Given the description of an element on the screen output the (x, y) to click on. 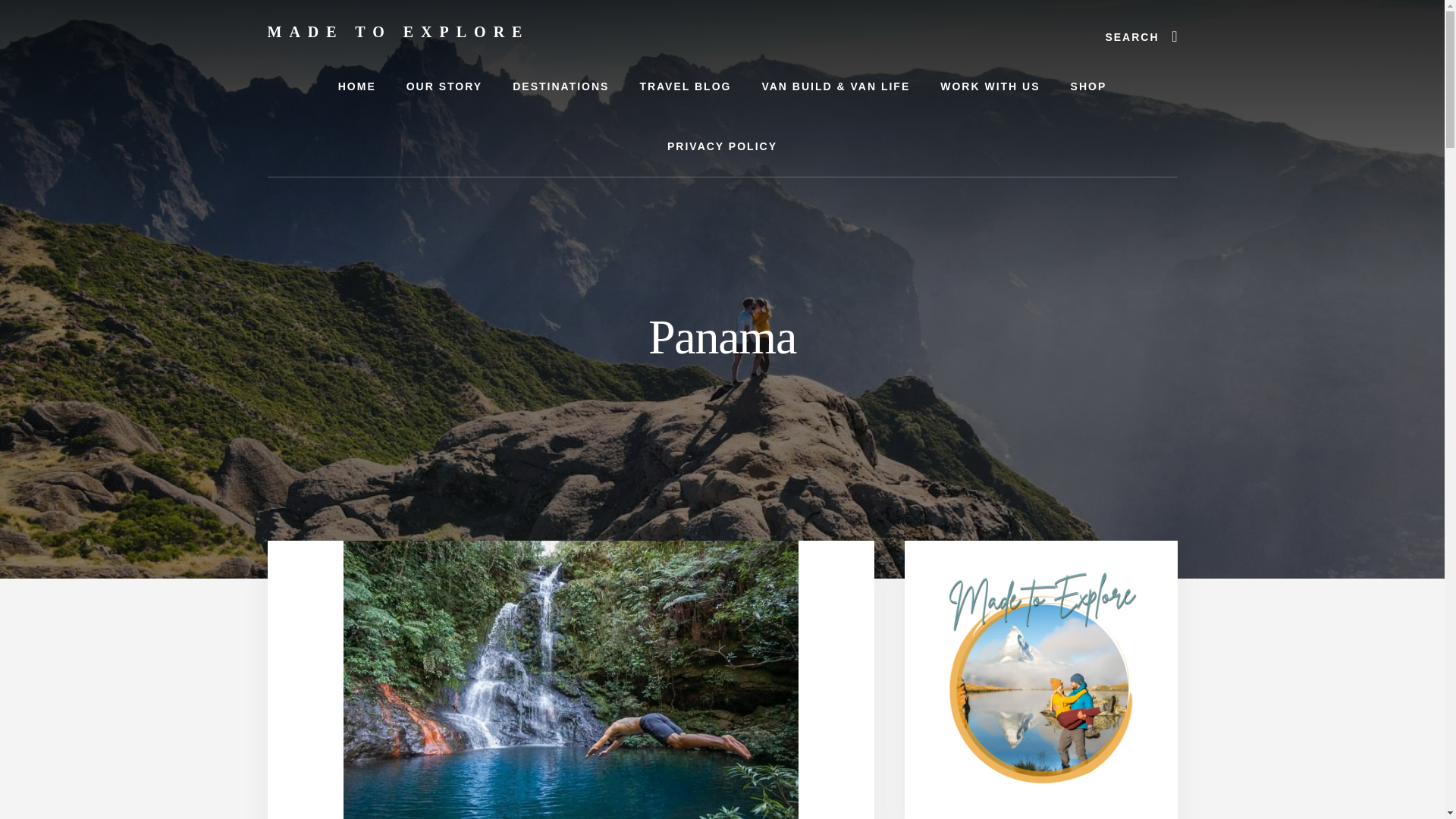
HOME (357, 86)
WORK WITH US (989, 86)
OUR STORY (444, 86)
SHOP (1088, 86)
DESTINATIONS (560, 86)
MADE TO EXPLORE (397, 31)
TRAVEL BLOG (684, 86)
